Given the description of an element on the screen output the (x, y) to click on. 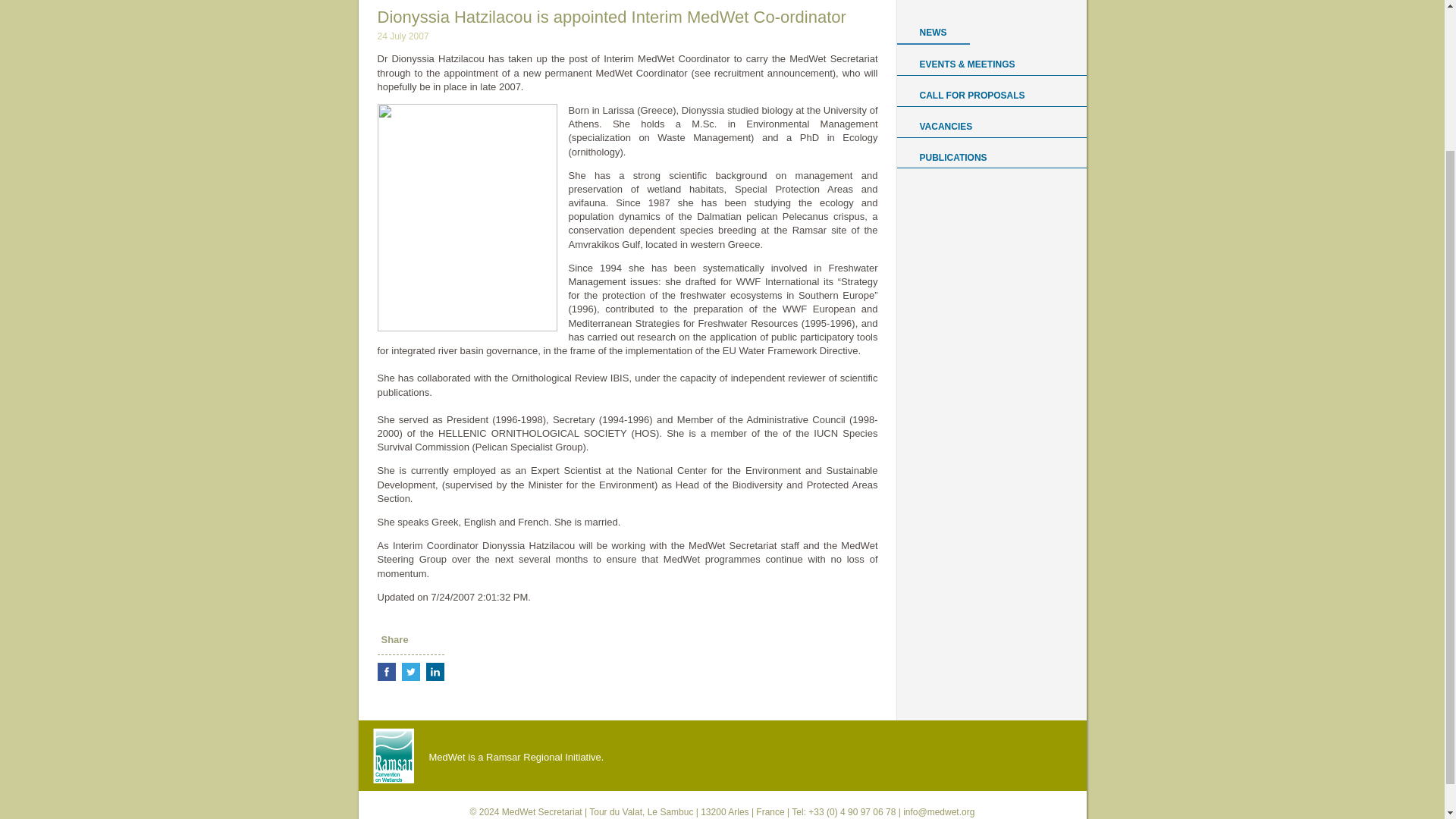
Share this post on LinkedIn (435, 671)
Share on Twitter (410, 671)
Share this post on Twitter (410, 671)
Share on Facebook (386, 671)
MedWet Secretariat (542, 811)
Share this post on Facebook (386, 671)
Share on LinkedIn (435, 671)
